Given the description of an element on the screen output the (x, y) to click on. 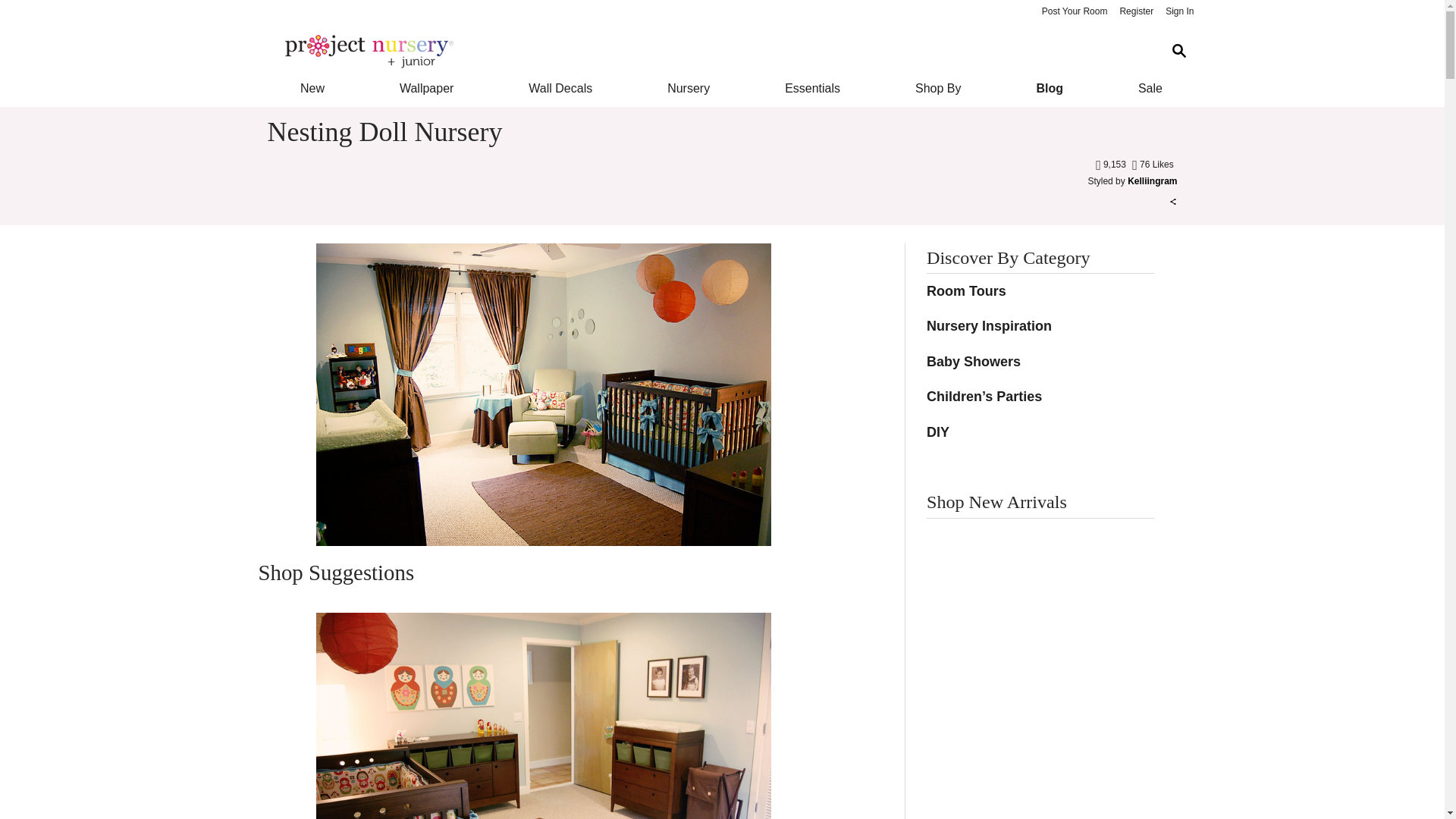
Views (1112, 163)
Nursery (689, 88)
Sign In (1178, 11)
Post Your Room (1074, 11)
Post Your Room (1074, 11)
Register (1135, 11)
Wall Decals (561, 88)
New (311, 88)
Search (1178, 50)
Wallpaper (425, 88)
Project Nursery (709, 51)
